Given the description of an element on the screen output the (x, y) to click on. 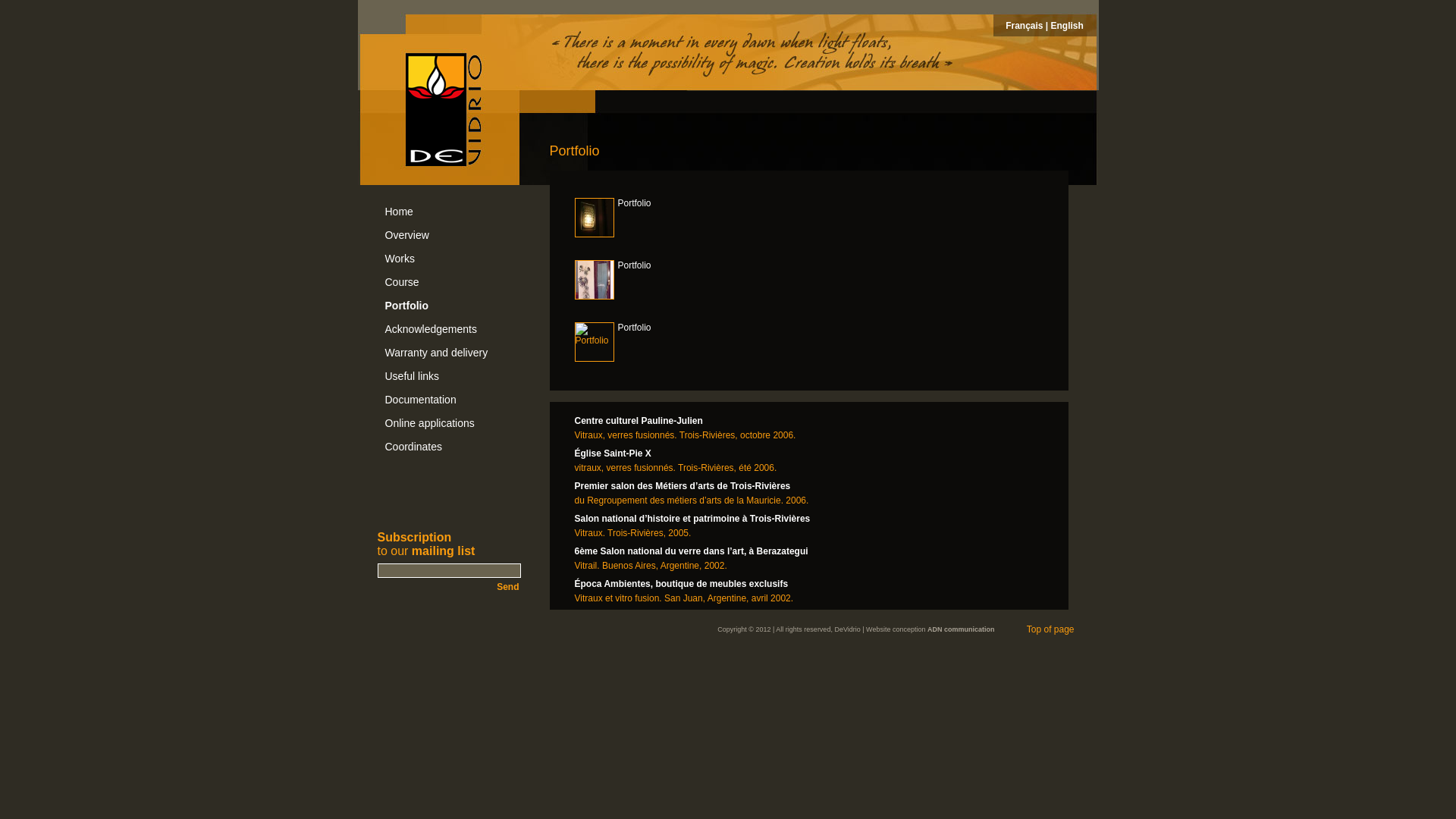
Useful links Element type: text (448, 376)
Top of page Element type: text (1053, 629)
ADN communication Element type: text (960, 629)
Documentation Element type: text (448, 400)
Works Element type: text (448, 258)
Portfolio Element type: text (448, 305)
Home Element type: text (448, 211)
Portfolio Element type: hover (594, 217)
Portfolio Element type: hover (594, 341)
Devidrio Element type: hover (442, 109)
DeVidrio Element type: text (846, 629)
Warranty and delivery Element type: text (448, 353)
Portfolio Element type: hover (594, 279)
Coordinates Element type: text (448, 447)
Online applications Element type: text (448, 423)
Course Element type: text (448, 282)
Overview Element type: text (448, 235)
Acknowledgements Element type: text (448, 329)
Send Element type: text (448, 584)
